Given the description of an element on the screen output the (x, y) to click on. 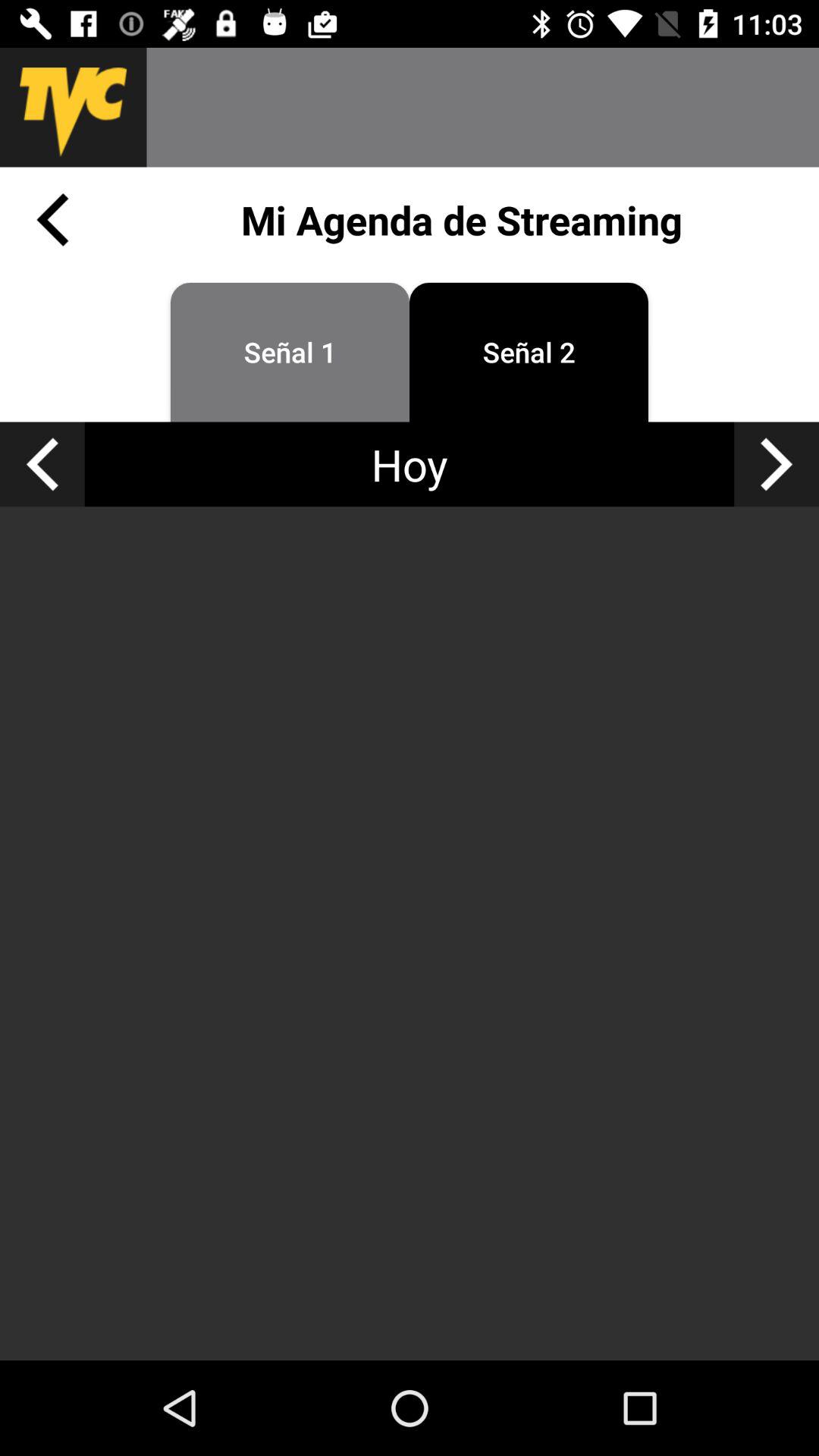
go to previous (42, 464)
